Given the description of an element on the screen output the (x, y) to click on. 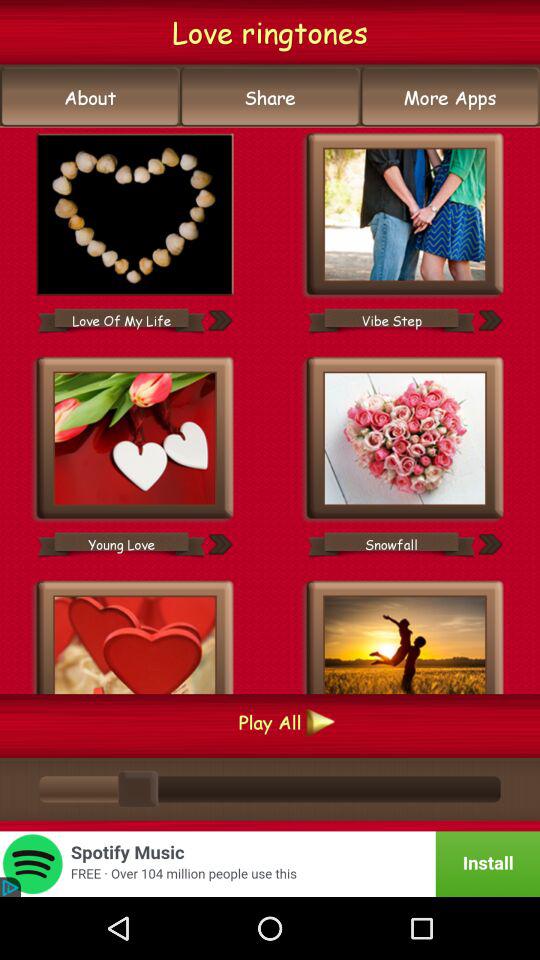
click icon next to more apps icon (270, 97)
